Given the description of an element on the screen output the (x, y) to click on. 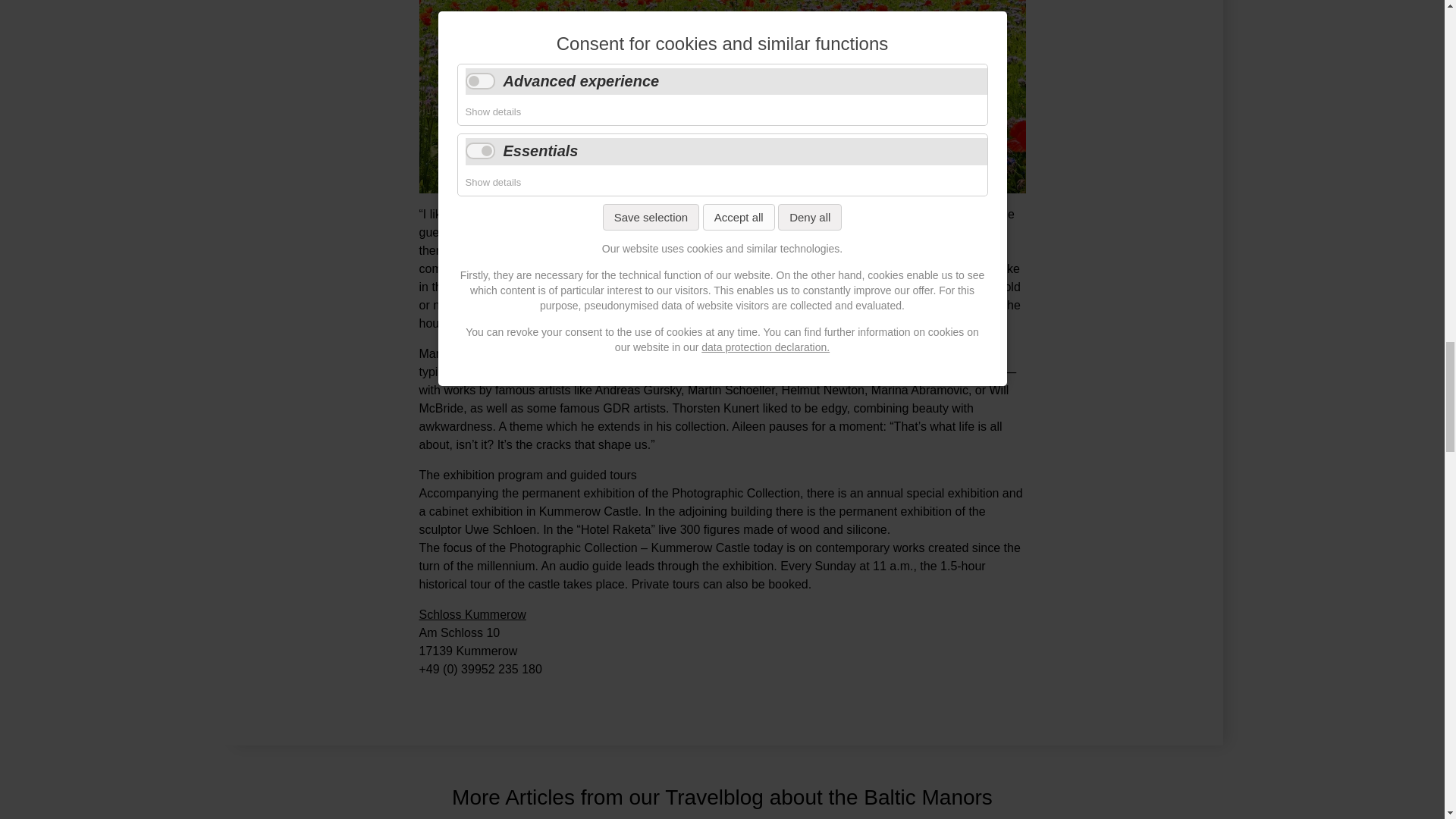
Schloss Kummerow (472, 614)
